Given the description of an element on the screen output the (x, y) to click on. 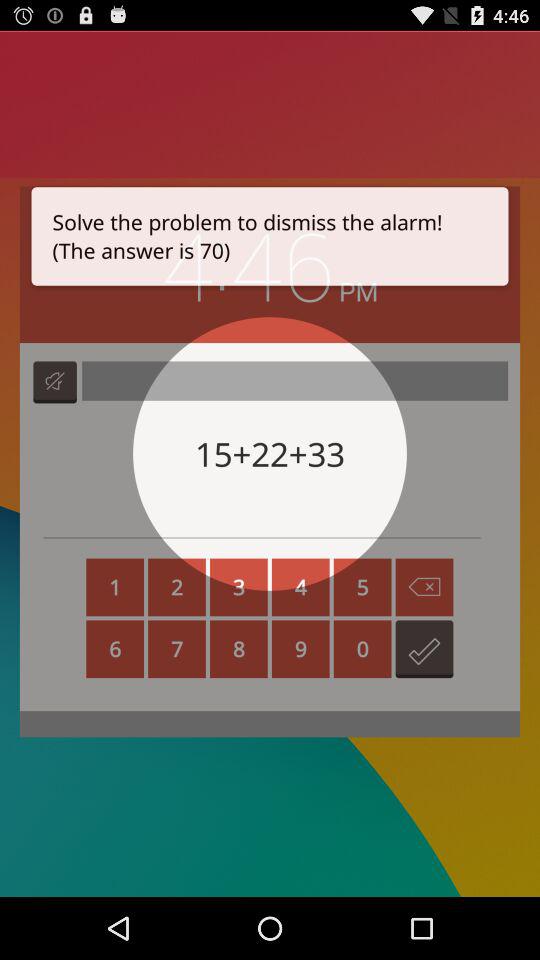
click on the number zero (363, 648)
click on the button having number 9 (300, 648)
click on the button having number 3 (238, 586)
